Given the description of an element on the screen output the (x, y) to click on. 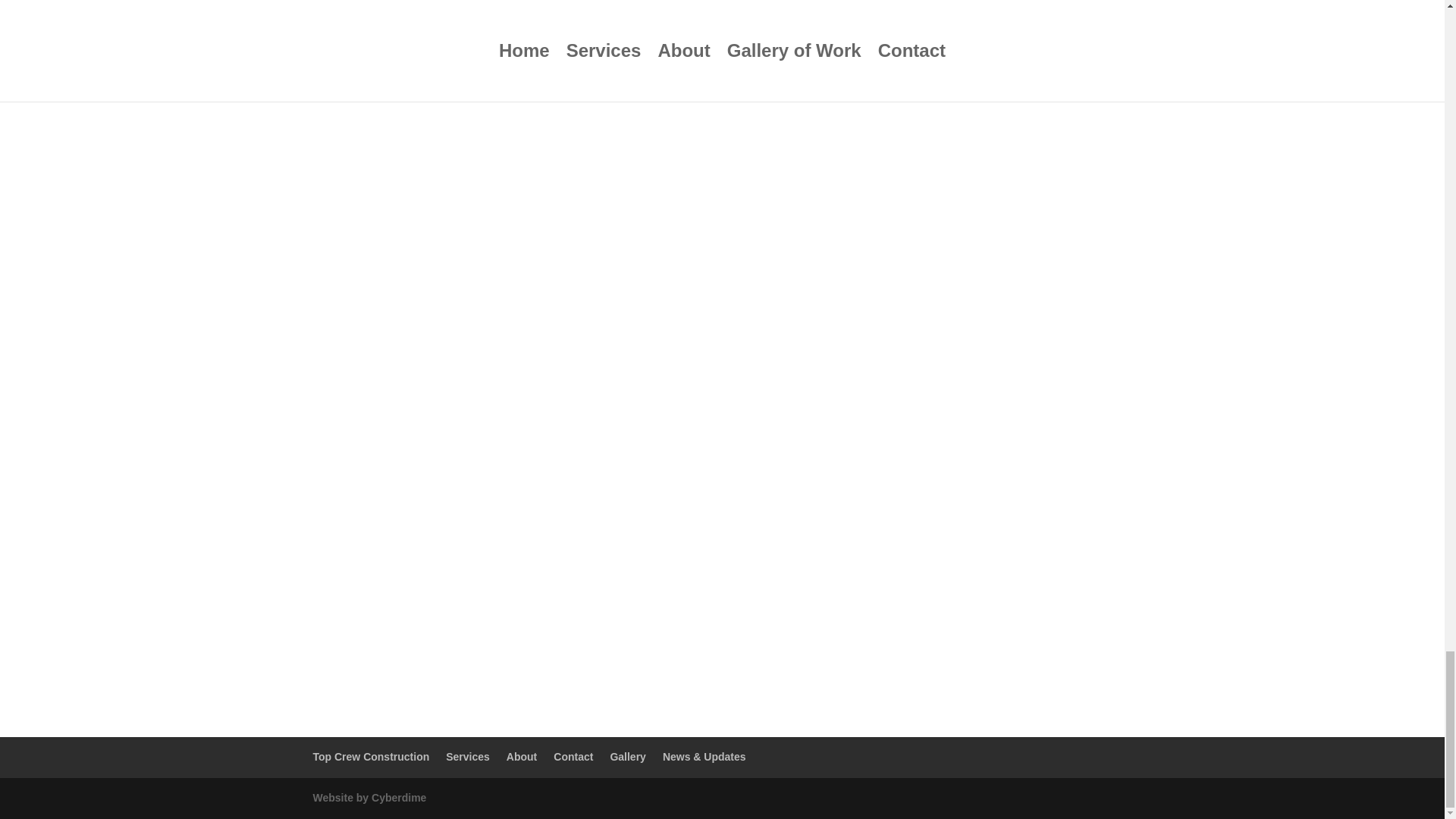
Website by Cyberdime (369, 797)
Top Crew Construction (371, 756)
Gallery (627, 756)
About (521, 756)
Contact (572, 756)
Services (467, 756)
